Given the description of an element on the screen output the (x, y) to click on. 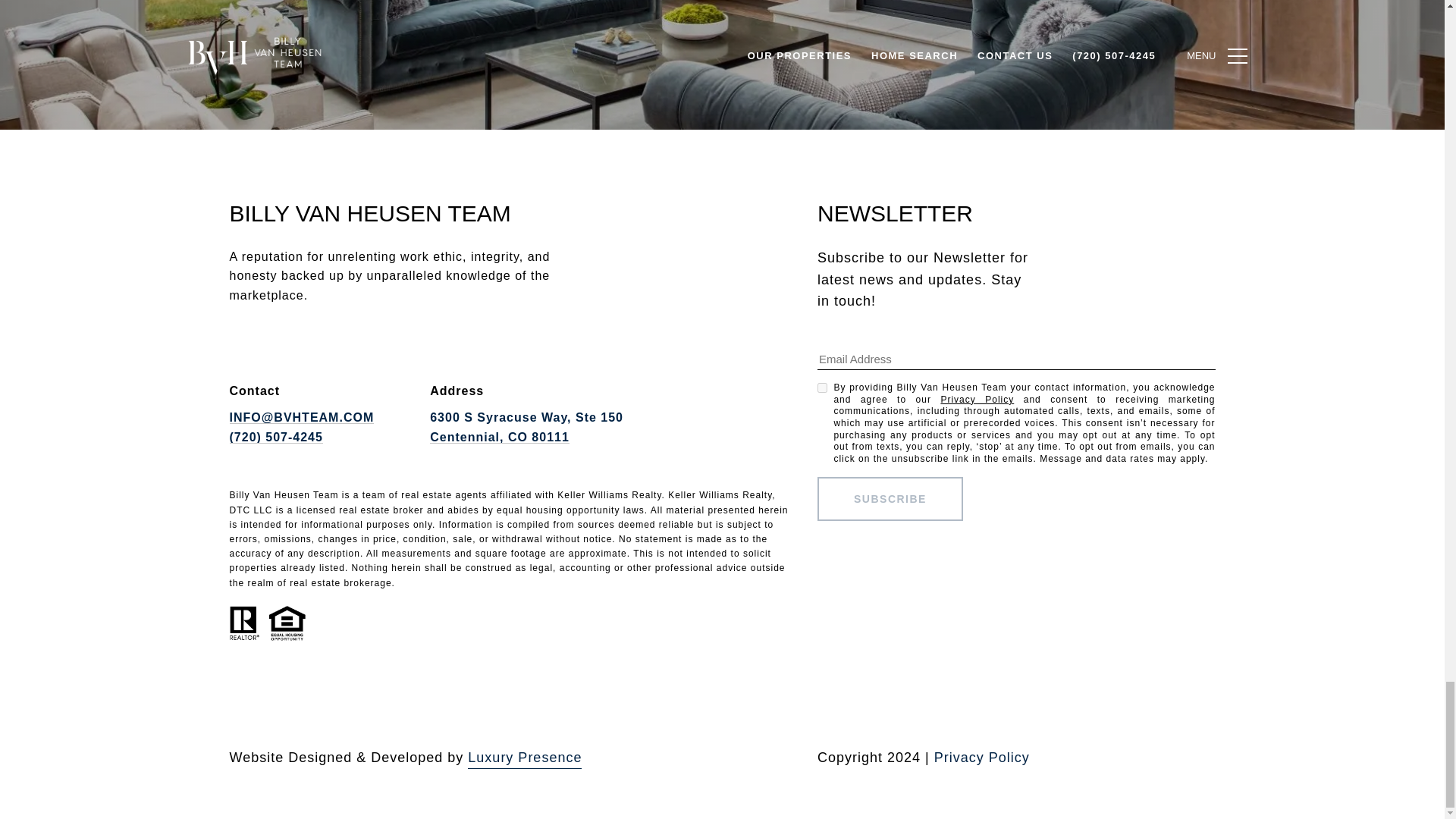
SUBSCRIBE (889, 498)
on (821, 388)
